Given the description of an element on the screen output the (x, y) to click on. 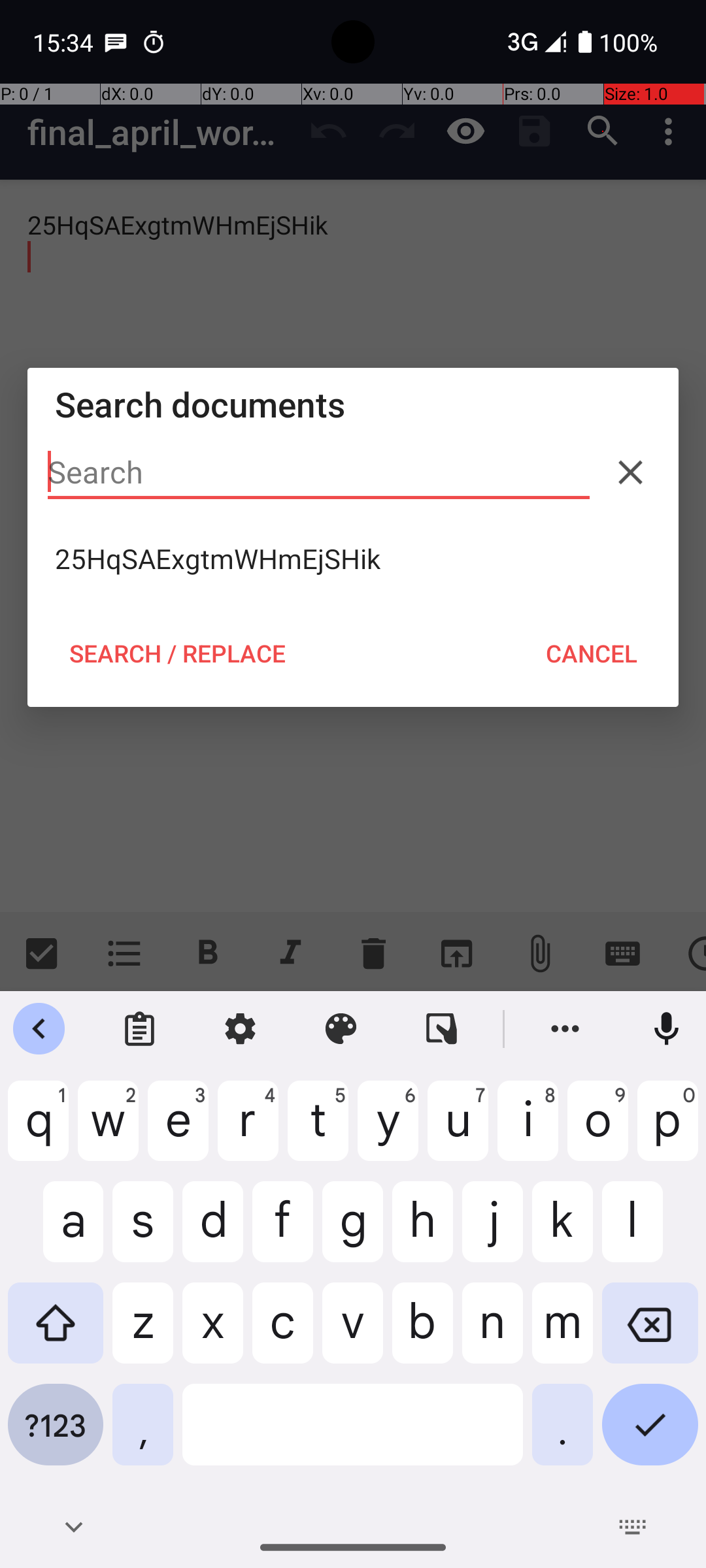
25HqSAExgtmWHmEjSHik Element type: android.widget.TextView (352, 558)
